Given the description of an element on the screen output the (x, y) to click on. 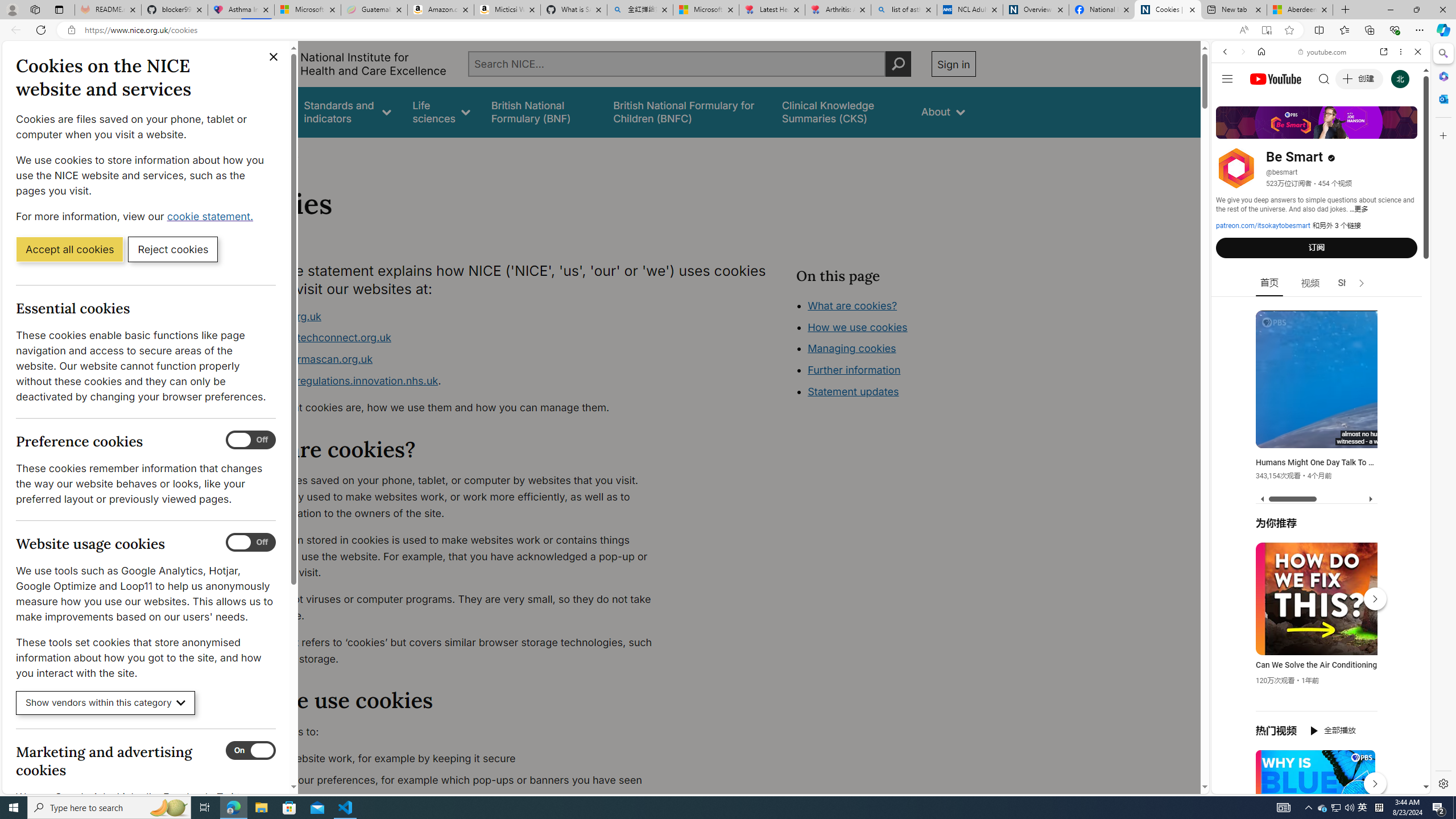
Accept all cookies (69, 248)
youtube.com (1322, 51)
Class: b_serphb (1404, 130)
www.ukpharmascan.org.uk (452, 359)
patreon.com/itsokaytobesmart (1262, 225)
About (283, 152)
Music (1320, 309)
